Given the description of an element on the screen output the (x, y) to click on. 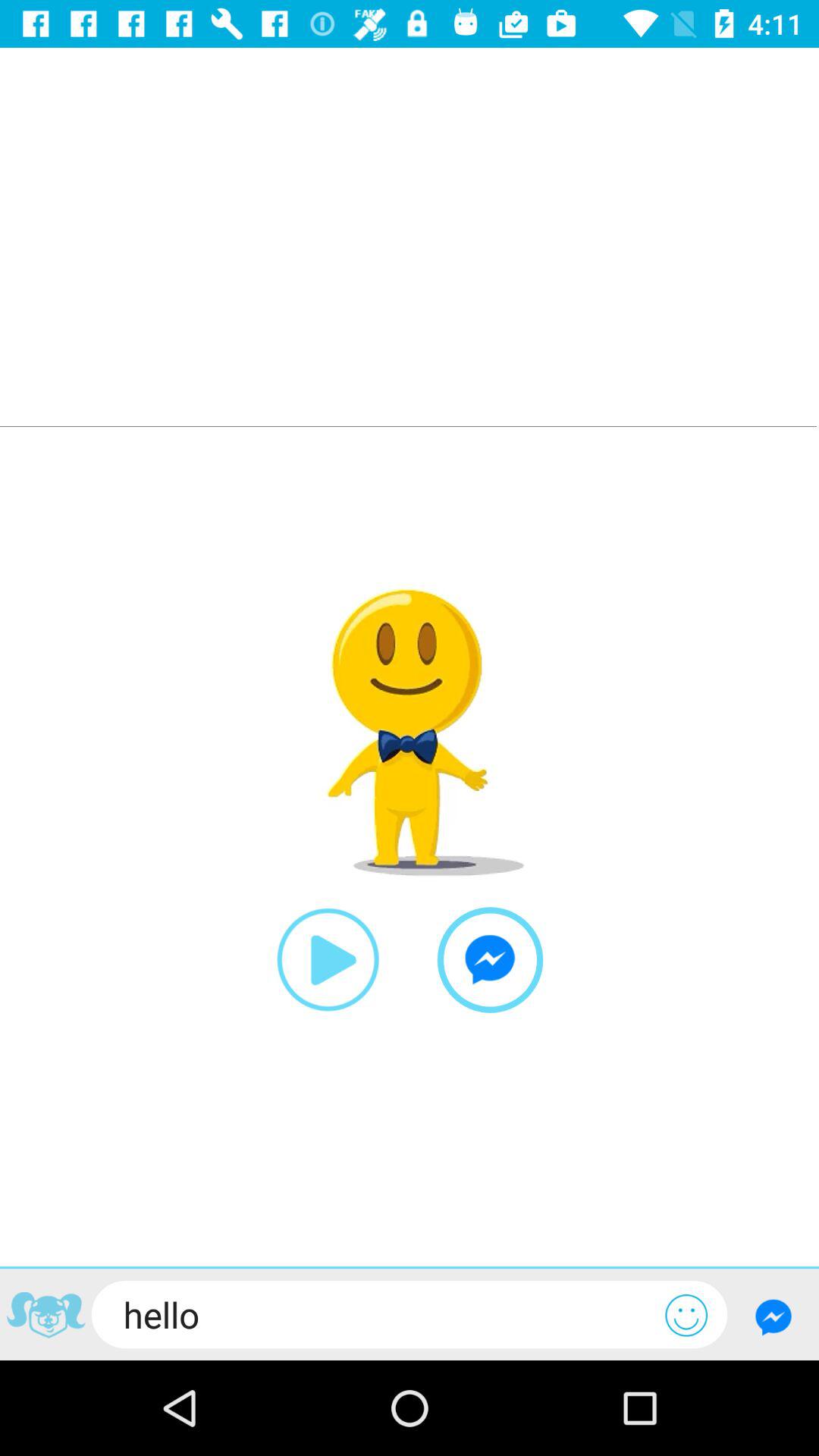
add emoji (686, 1315)
